Given the description of an element on the screen output the (x, y) to click on. 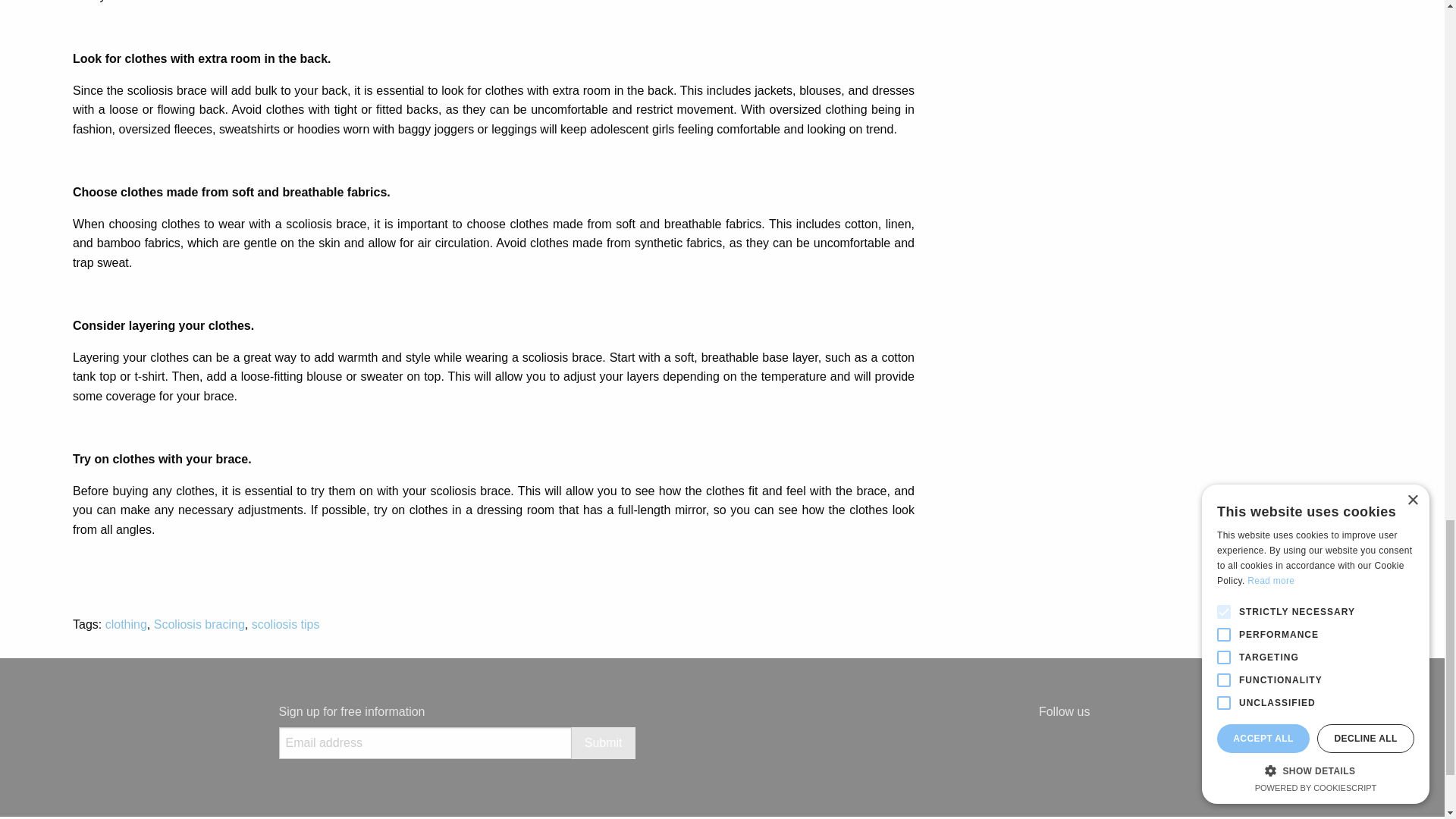
Submit (603, 743)
